Given the description of an element on the screen output the (x, y) to click on. 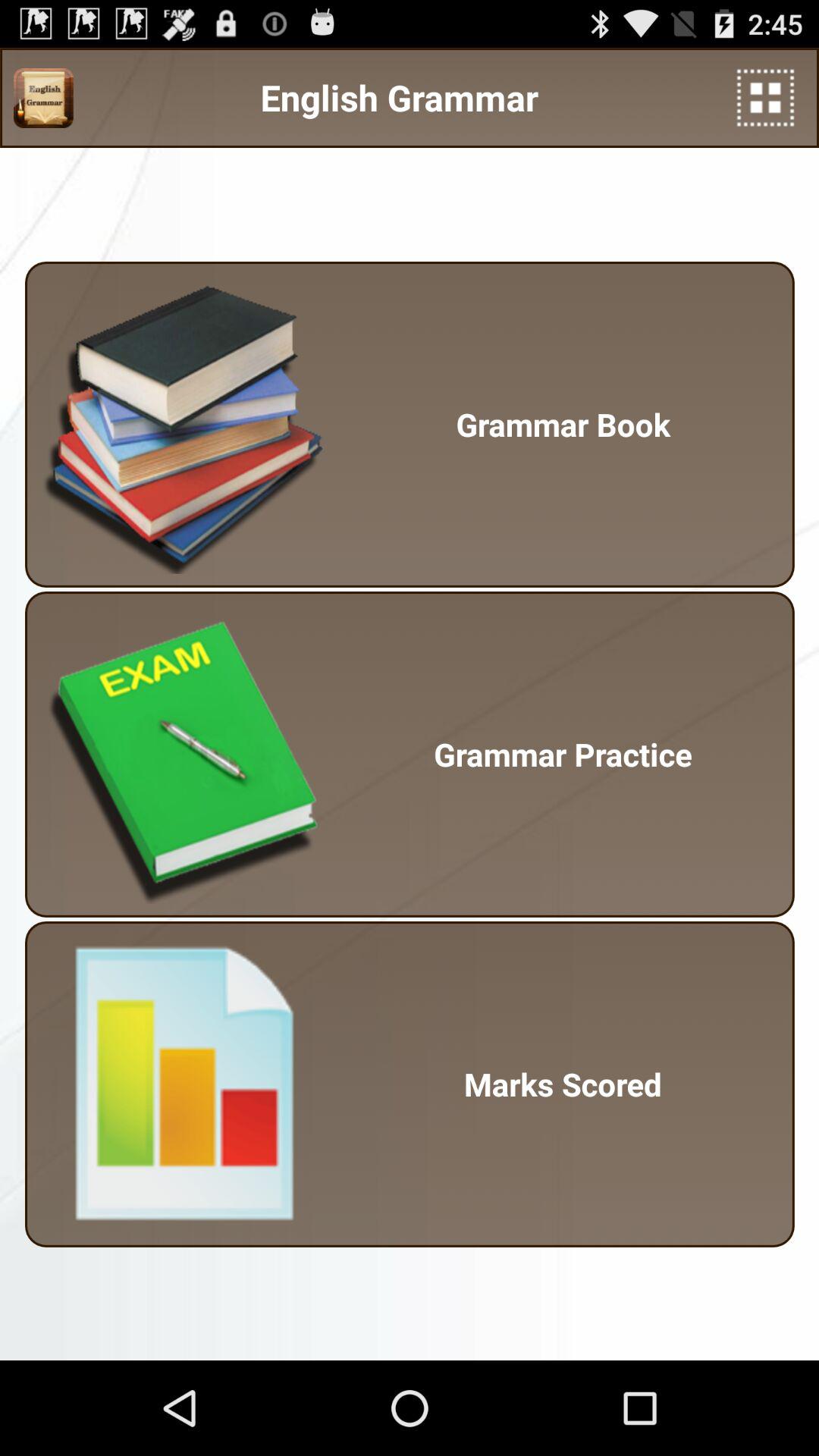
turn off the app next to the english grammar icon (43, 97)
